Given the description of an element on the screen output the (x, y) to click on. 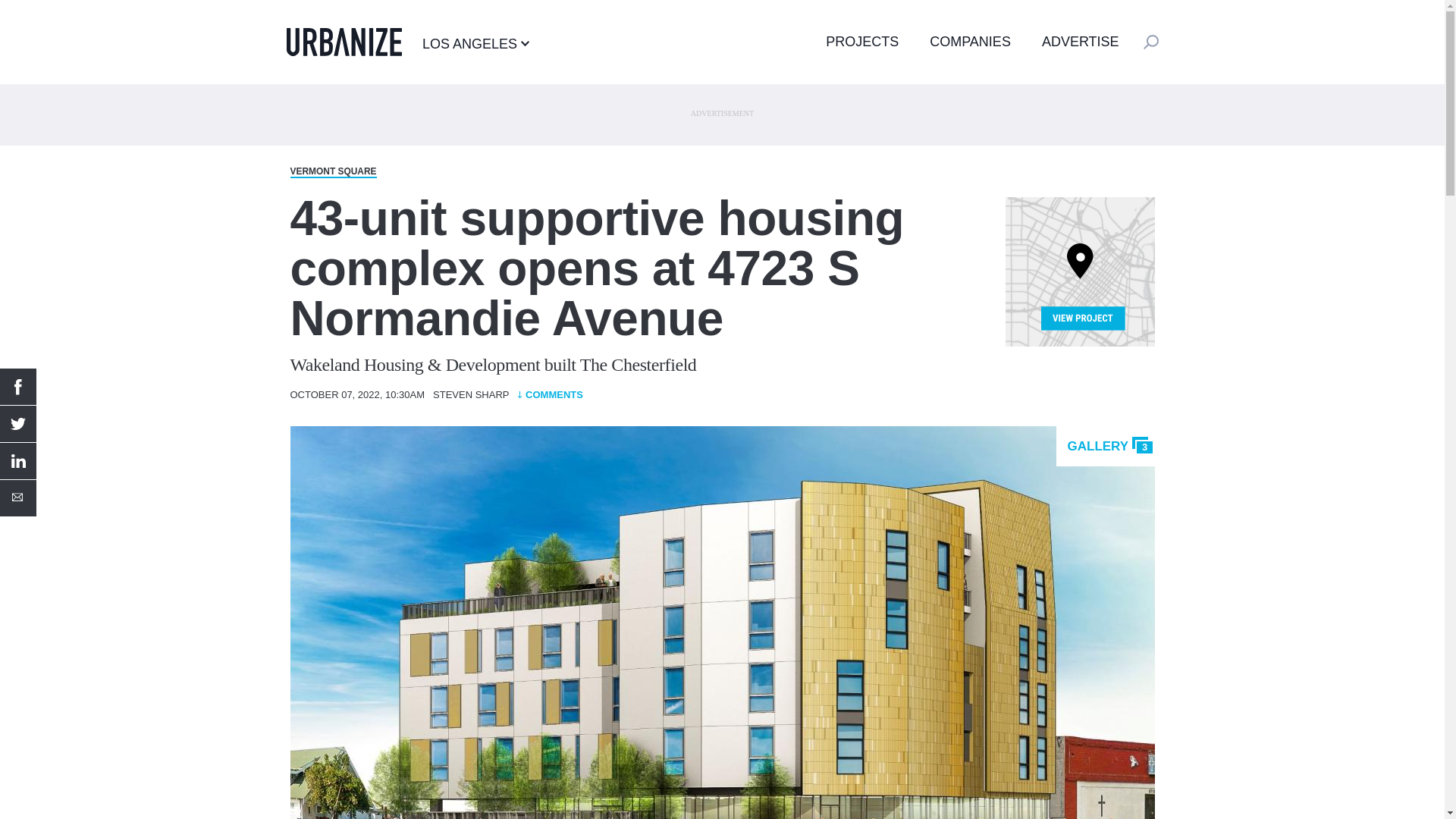
Share by LinkedIn (18, 461)
Share by Facebook (18, 386)
LOS ANGELES (475, 43)
PROJECTS (861, 41)
COMPANIES (970, 41)
Share by email (18, 497)
ADVERTISE (1080, 41)
Share by Twitter (18, 423)
